Given the description of an element on the screen output the (x, y) to click on. 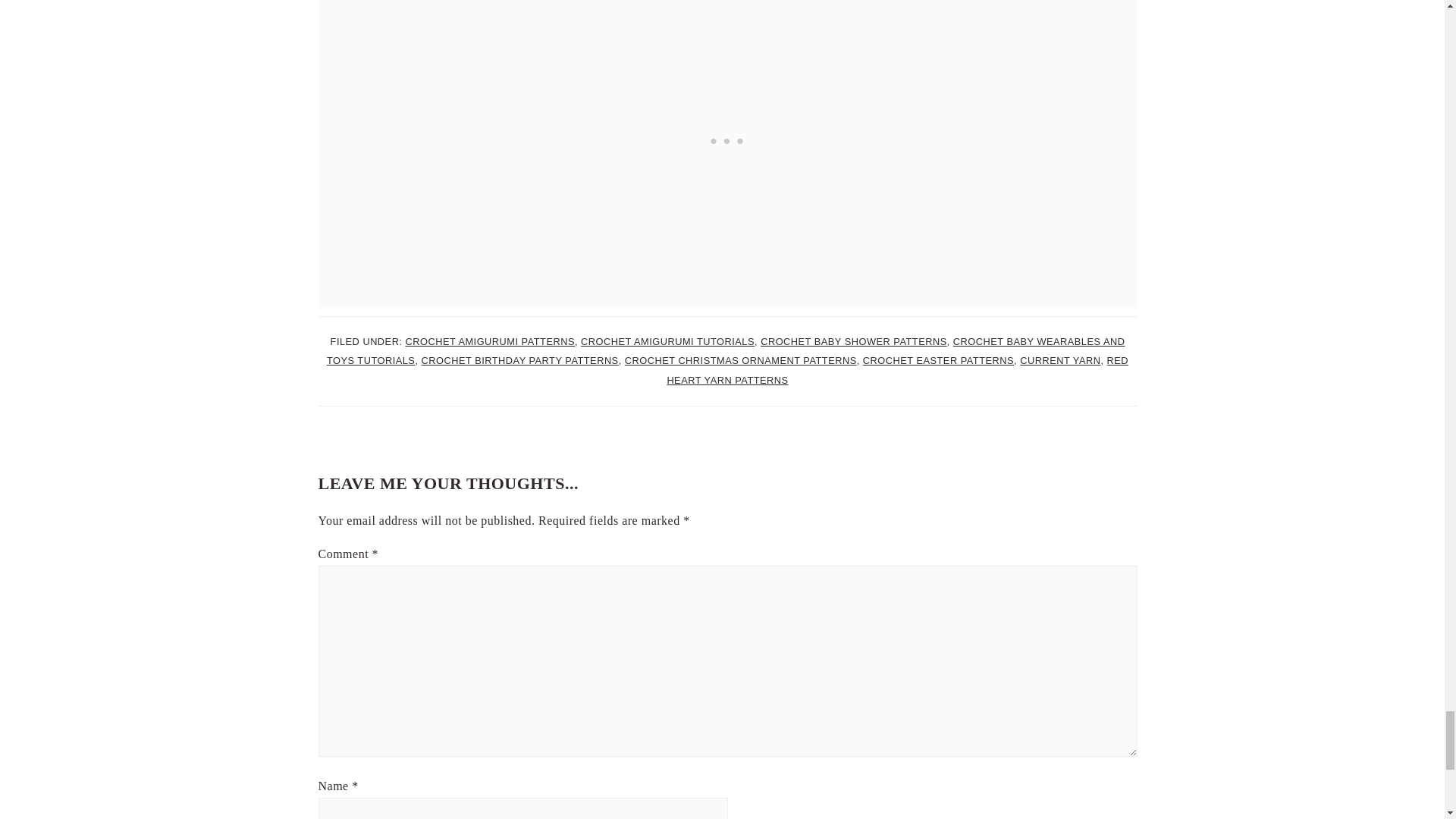
CROCHET EASTER PATTERNS (938, 360)
CROCHET CHRISTMAS ORNAMENT PATTERNS (740, 360)
CROCHET AMIGURUMI TUTORIALS (667, 341)
CROCHET AMIGURUMI PATTERNS (488, 341)
CROCHET BABY WEARABLES AND TOYS TUTORIALS (725, 350)
CROCHET BABY SHOWER PATTERNS (853, 341)
CROCHET BIRTHDAY PARTY PATTERNS (520, 360)
